Given the description of an element on the screen output the (x, y) to click on. 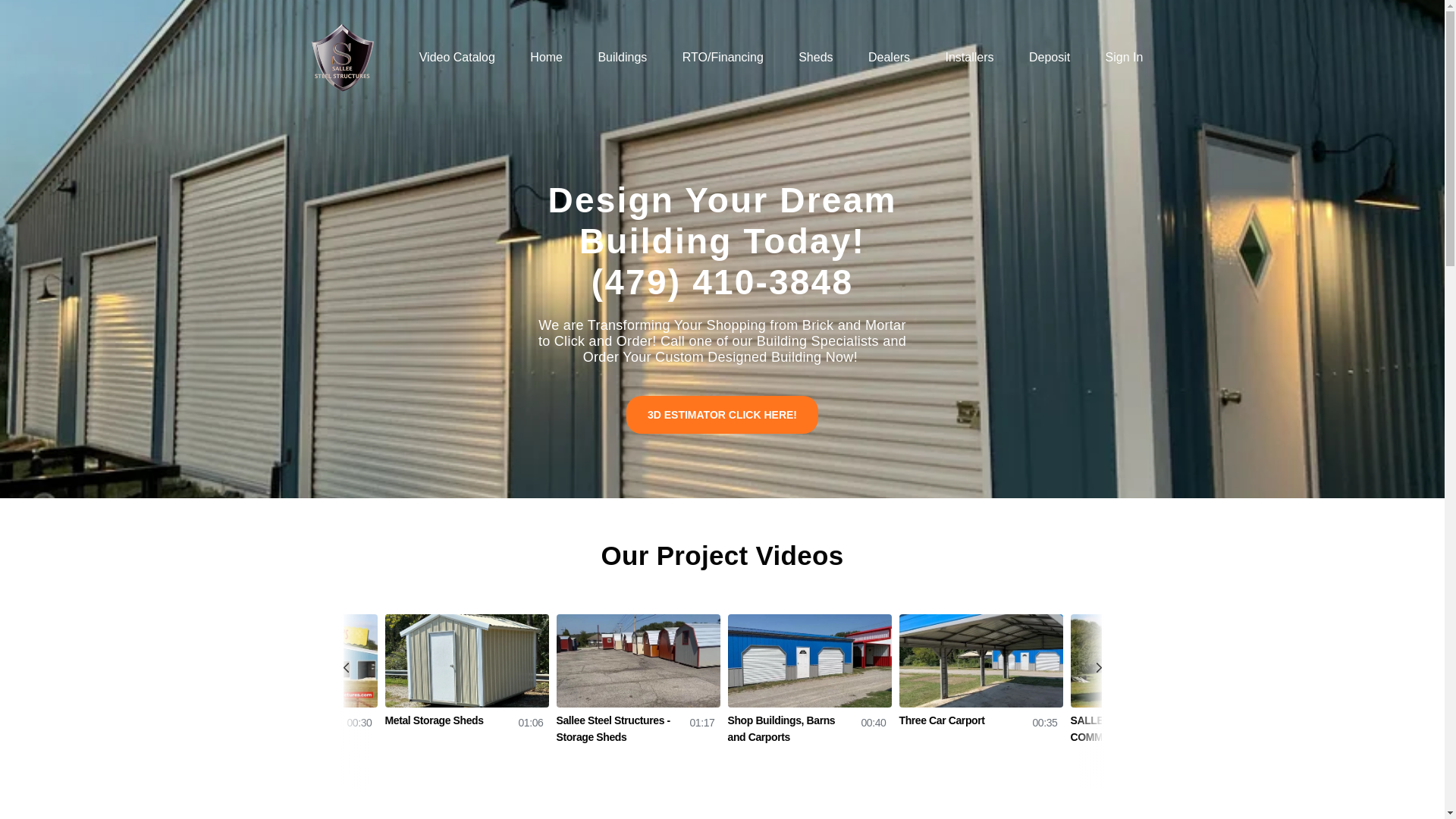
Buildings (621, 57)
Dealers (888, 57)
Sign In (1123, 57)
Deposit (1049, 57)
Sheds (814, 57)
3D ESTIMATOR CLICK HERE! (722, 414)
Installers (969, 57)
Home (545, 57)
Video Catalog (457, 57)
